Given the description of an element on the screen output the (x, y) to click on. 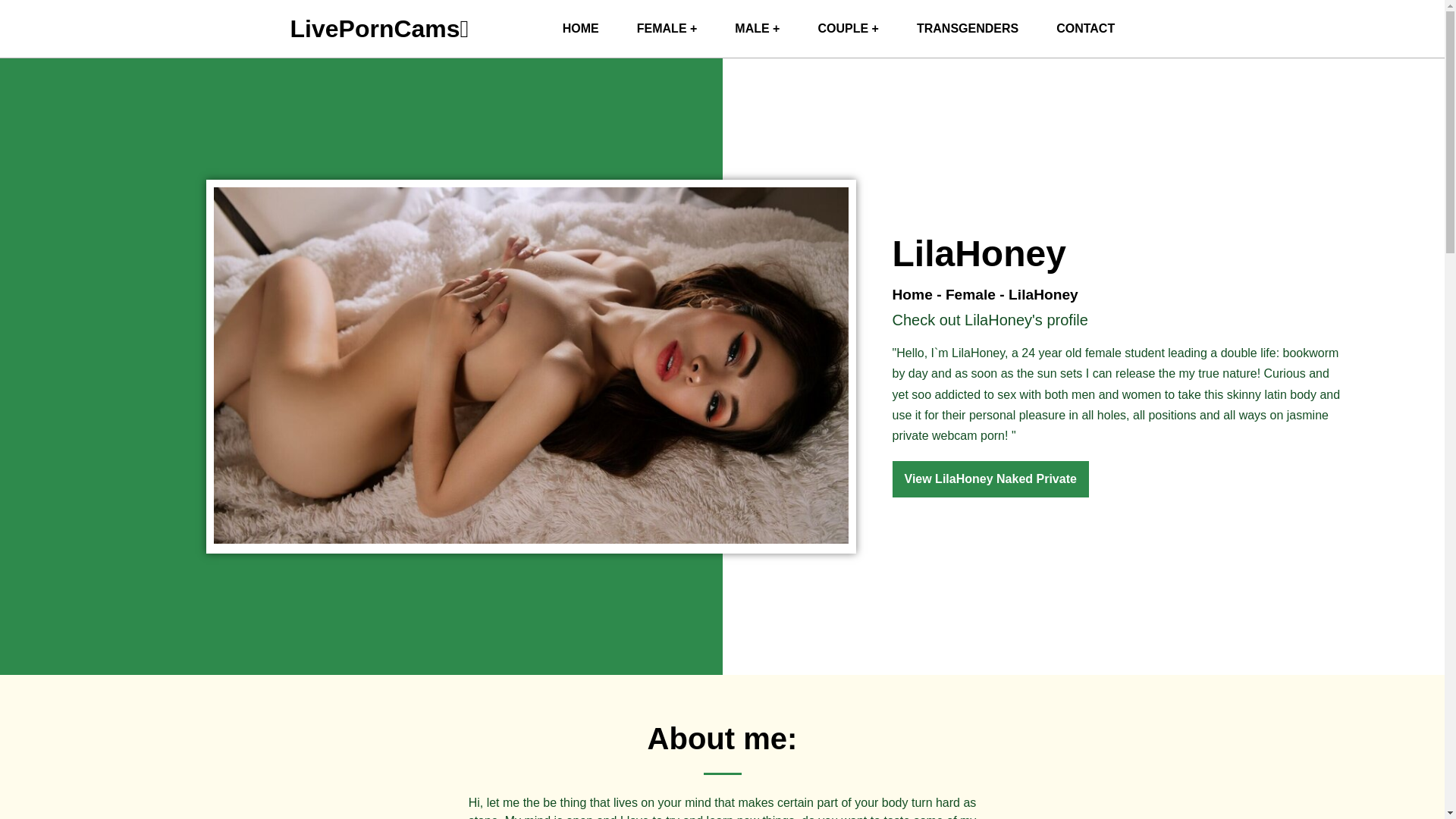
LivePornCams? (378, 28)
TRANSGENDERS (967, 28)
Contact (1086, 28)
Female (969, 294)
View LilaHoney Naked Private (989, 479)
LivePornCams? (580, 28)
Home (911, 294)
HOME (580, 28)
CONTACT (1086, 28)
Transgenders (967, 28)
